Given the description of an element on the screen output the (x, y) to click on. 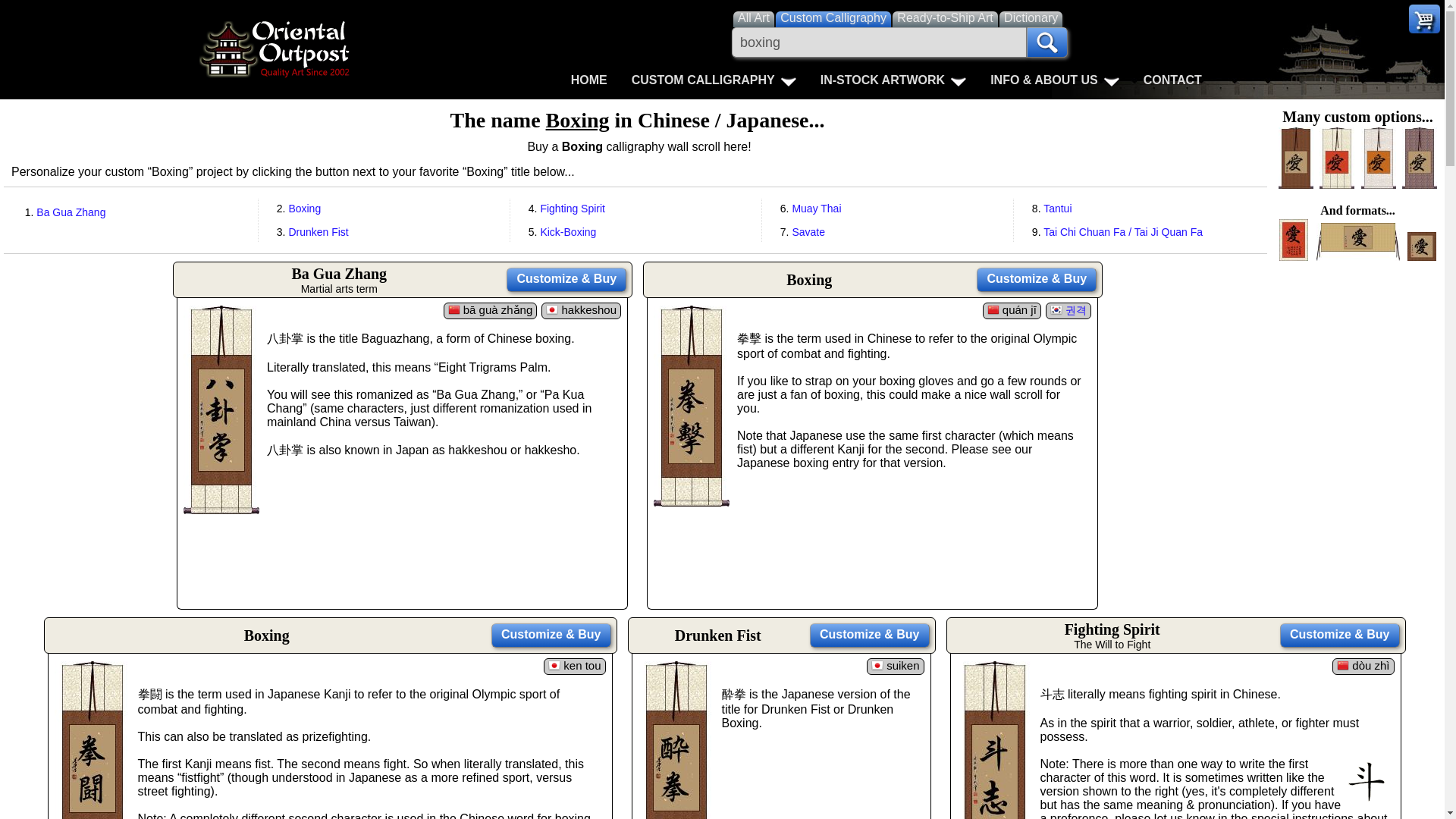
Click to Open (714, 80)
boxing (879, 42)
Search for all types of artwork (753, 17)
HOME (589, 80)
boxing (879, 42)
Search for Ready-to-Ship Artwork and Calligraphy (944, 17)
Click to Open (893, 80)
Search for Custom Japanese and Chinese Calligraphy Titles (832, 17)
Search the Chinese and Japanese Dictionary (1030, 17)
Search! (1046, 42)
